Given the description of an element on the screen output the (x, y) to click on. 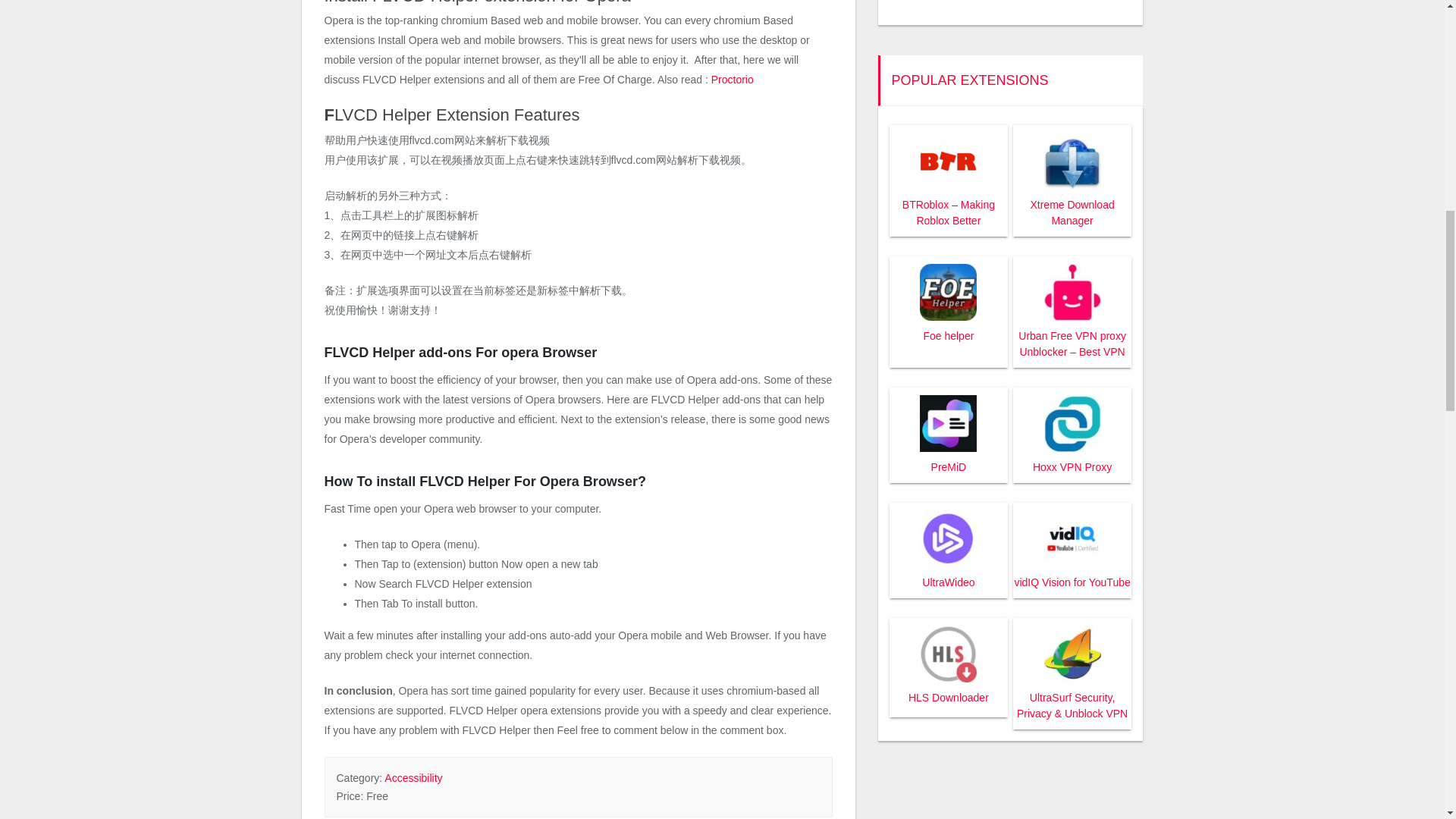
Proctorio (732, 79)
Accessibility (413, 777)
